Given the description of an element on the screen output the (x, y) to click on. 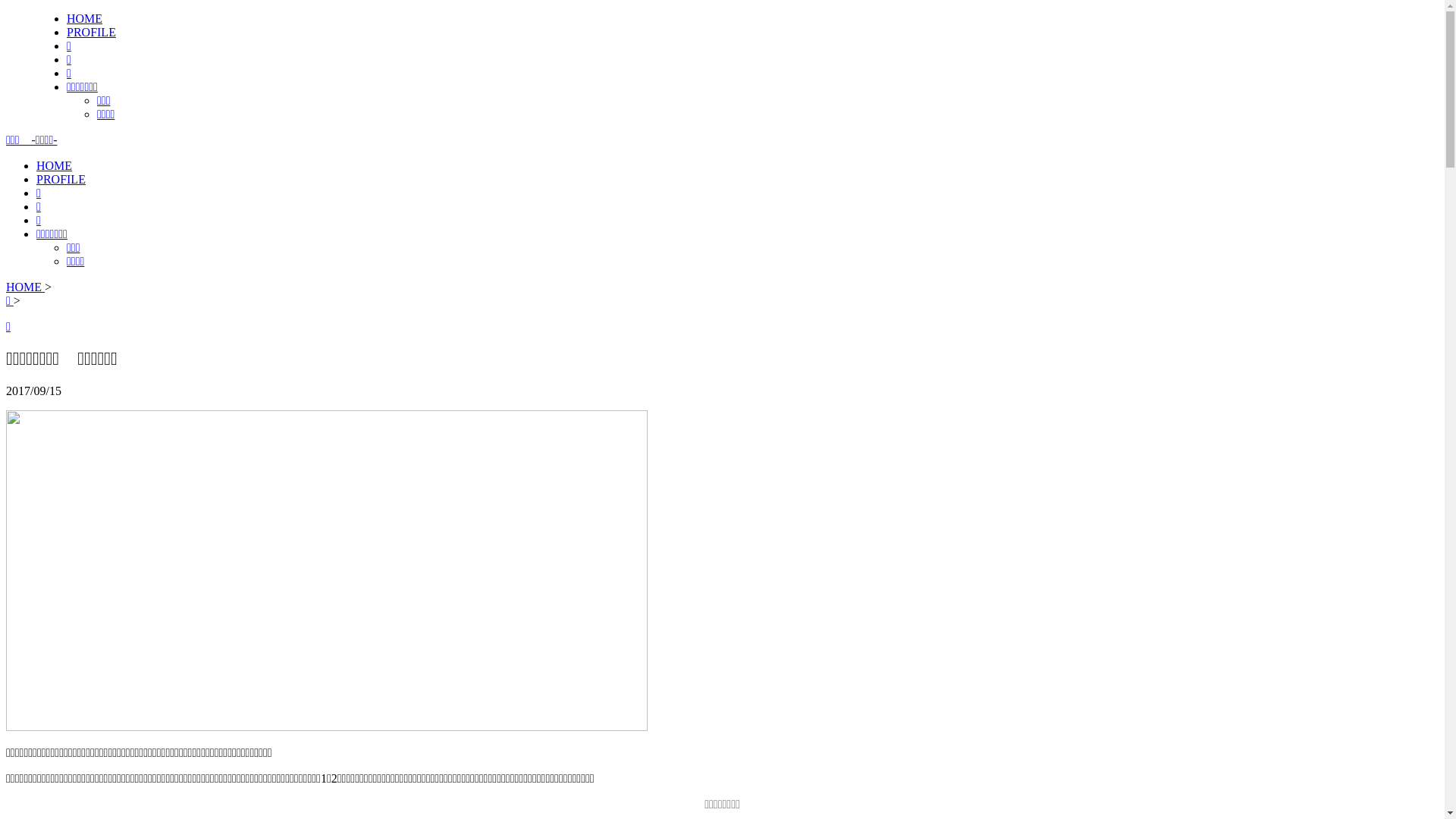
HOME Element type: text (25, 286)
HOME Element type: text (84, 18)
PROFILE Element type: text (60, 178)
PROFILE Element type: text (91, 31)
HOME Element type: text (54, 165)
